Given the description of an element on the screen output the (x, y) to click on. 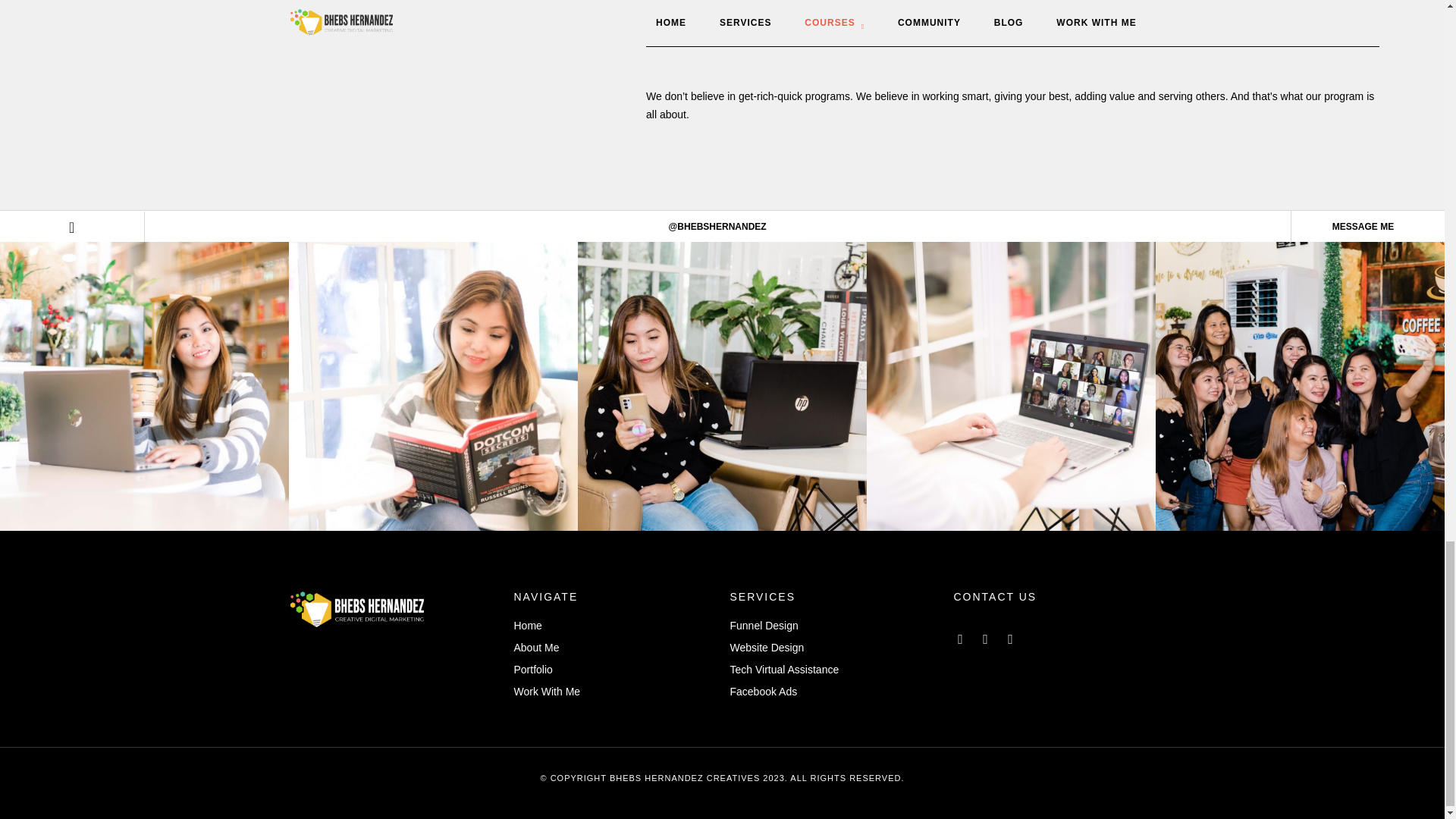
Home (613, 626)
Work With Me (613, 692)
MESSAGE ME (1362, 226)
About Me (613, 648)
